Given the description of an element on the screen output the (x, y) to click on. 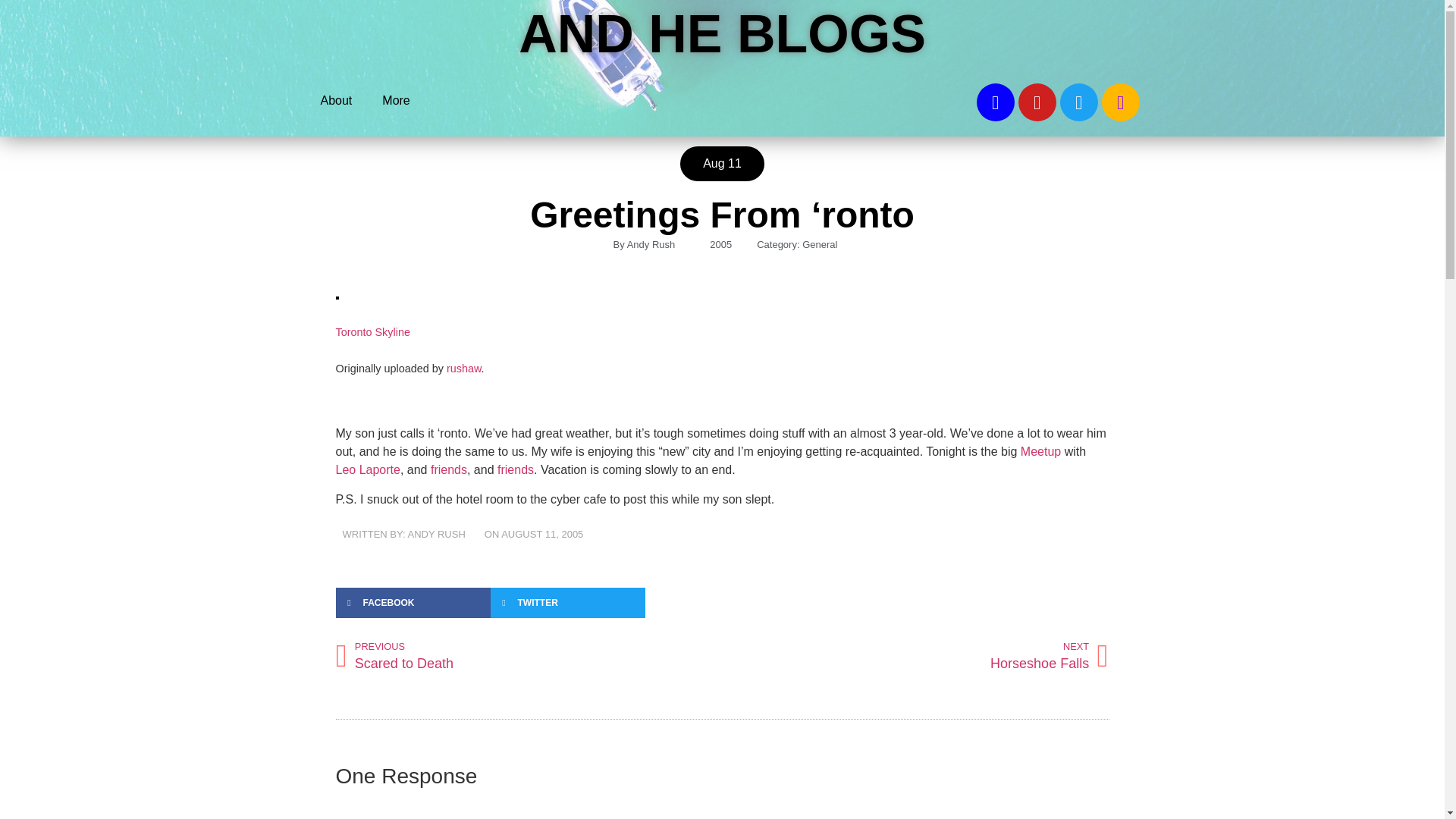
Aug 11 (722, 163)
More (395, 100)
About (335, 100)
AND HE BLOGS (722, 33)
